Given the description of an element on the screen output the (x, y) to click on. 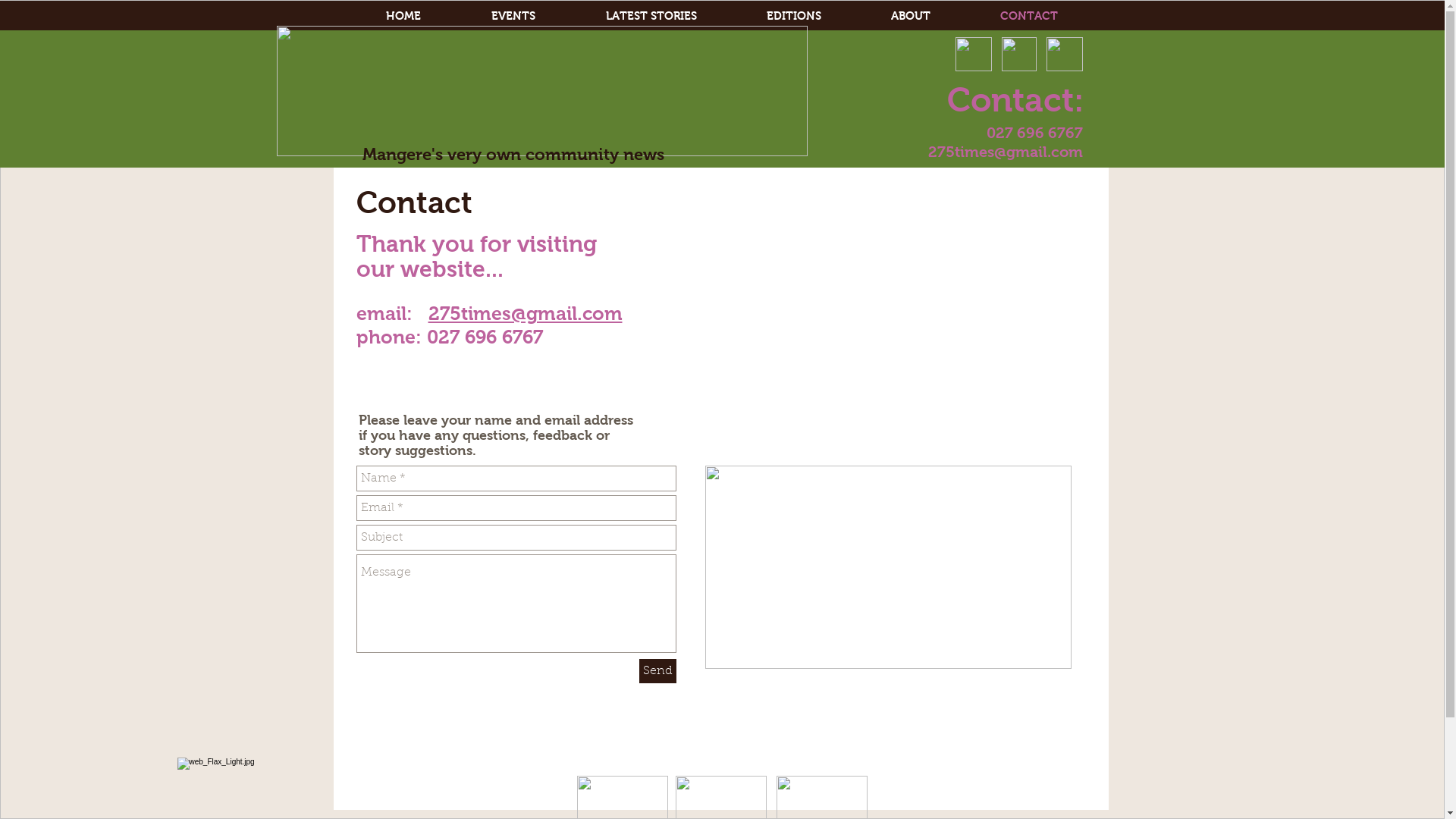
Send Element type: text (656, 670)
ABOUT Element type: text (909, 15)
CONTACT Element type: text (1028, 15)
275times@gmail.com Element type: text (1005, 151)
LATEST STORIES Element type: text (650, 15)
HOME Element type: text (402, 15)
275times@gmail.com Element type: text (524, 312)
Google Maps Element type: hover (859, 314)
EDITIONS Element type: text (793, 15)
EVENTS Element type: text (513, 15)
marketsblur_jan_2104.jpg Element type: hover (888, 566)
